Given the description of an element on the screen output the (x, y) to click on. 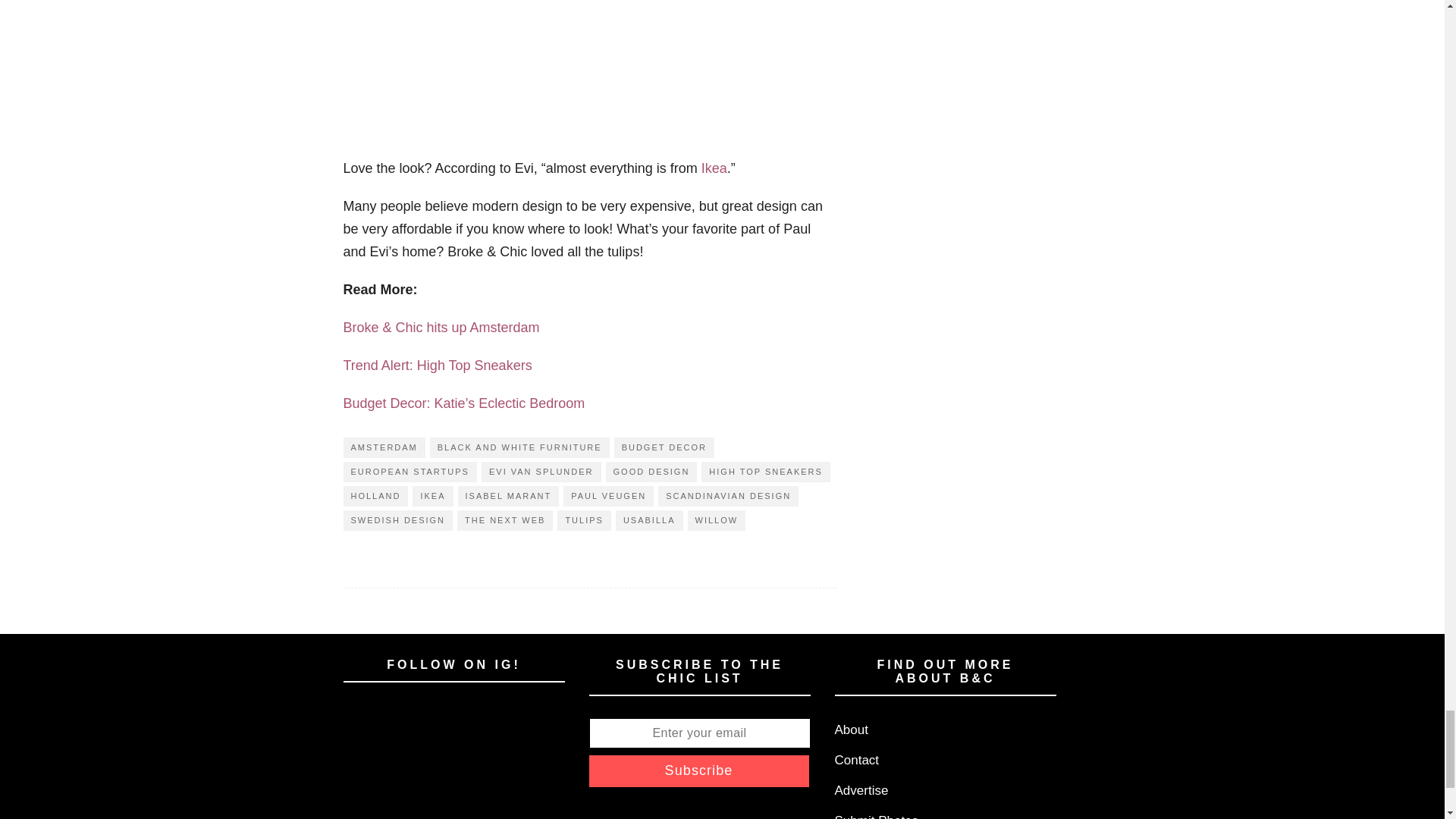
Ikea (713, 168)
SWEDISH DESIGN (397, 520)
PAUL VEUGEN (608, 496)
TULIPS (584, 520)
BLACK AND WHITE FURNITURE (519, 447)
WILLOW (716, 520)
AMSTERDAM (383, 447)
HOLLAND (374, 496)
BUDGET DECOR (664, 447)
USABILLA (648, 520)
